Given the description of an element on the screen output the (x, y) to click on. 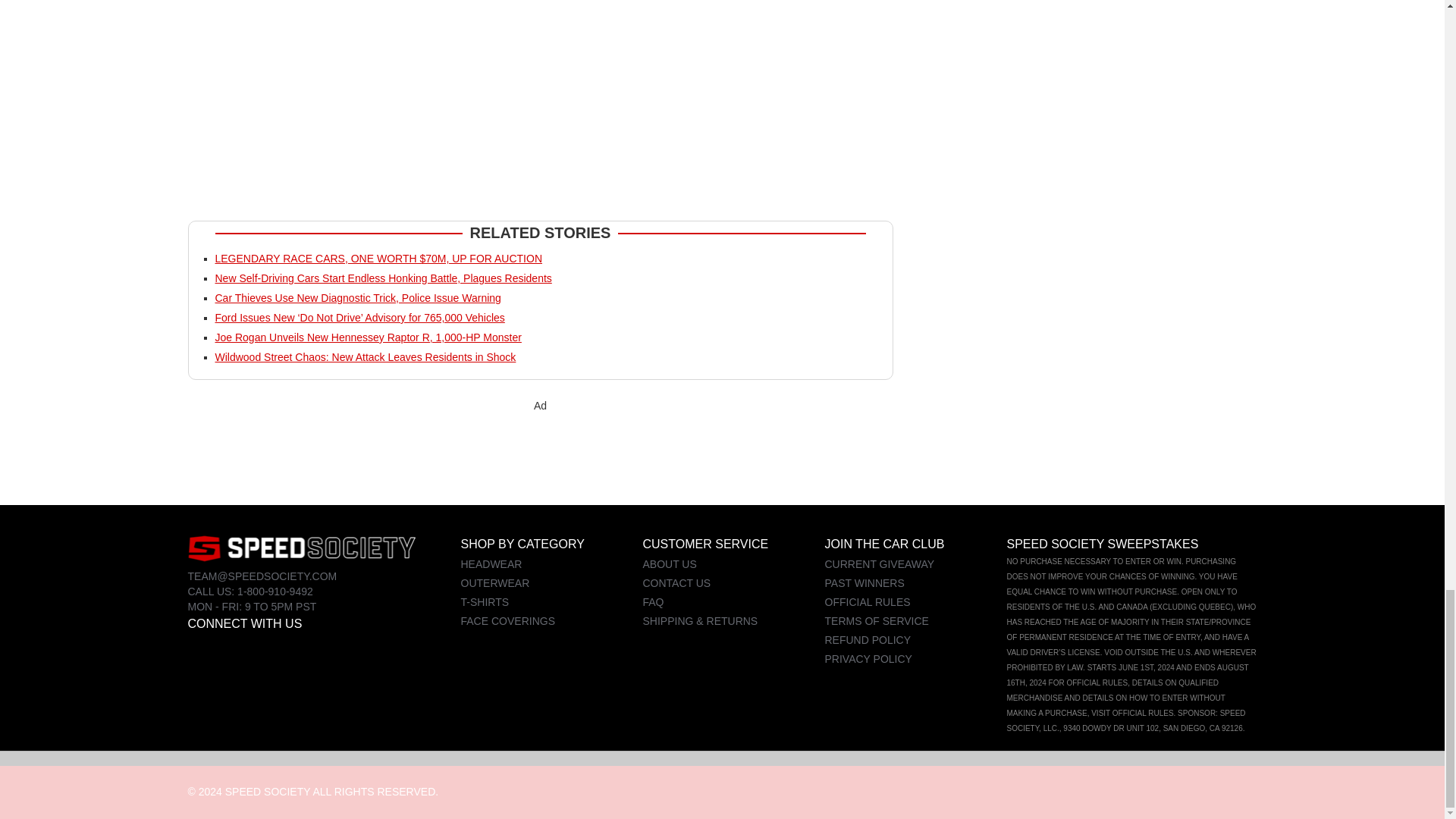
footer logo (300, 548)
Car Thieves Use New Diagnostic Trick, Police Issue Warning (357, 297)
